Given the description of an element on the screen output the (x, y) to click on. 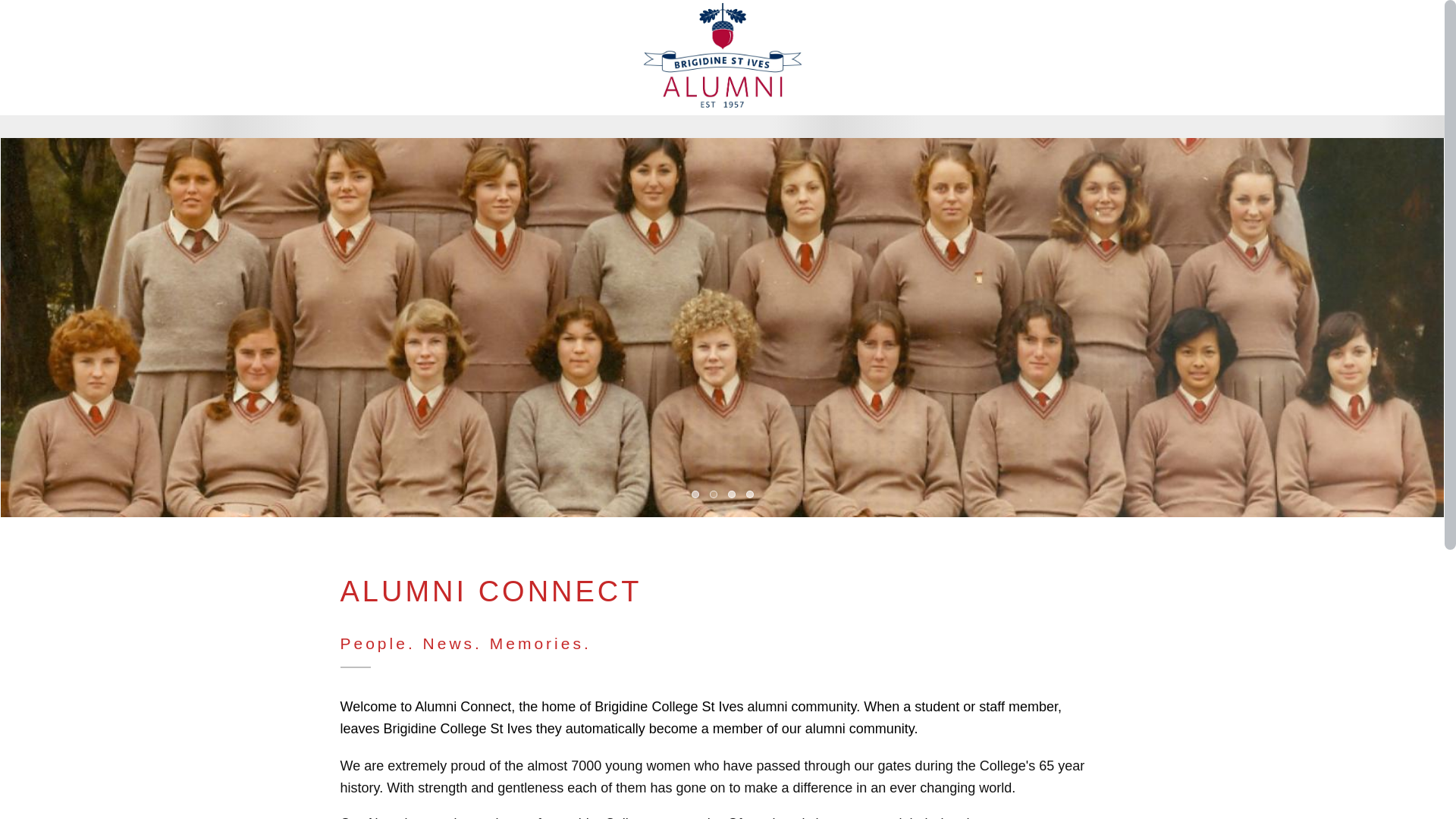
1 Element type: text (695, 494)
2 Element type: text (713, 494)
4 Element type: text (749, 494)
3 Element type: text (731, 494)
